Given the description of an element on the screen output the (x, y) to click on. 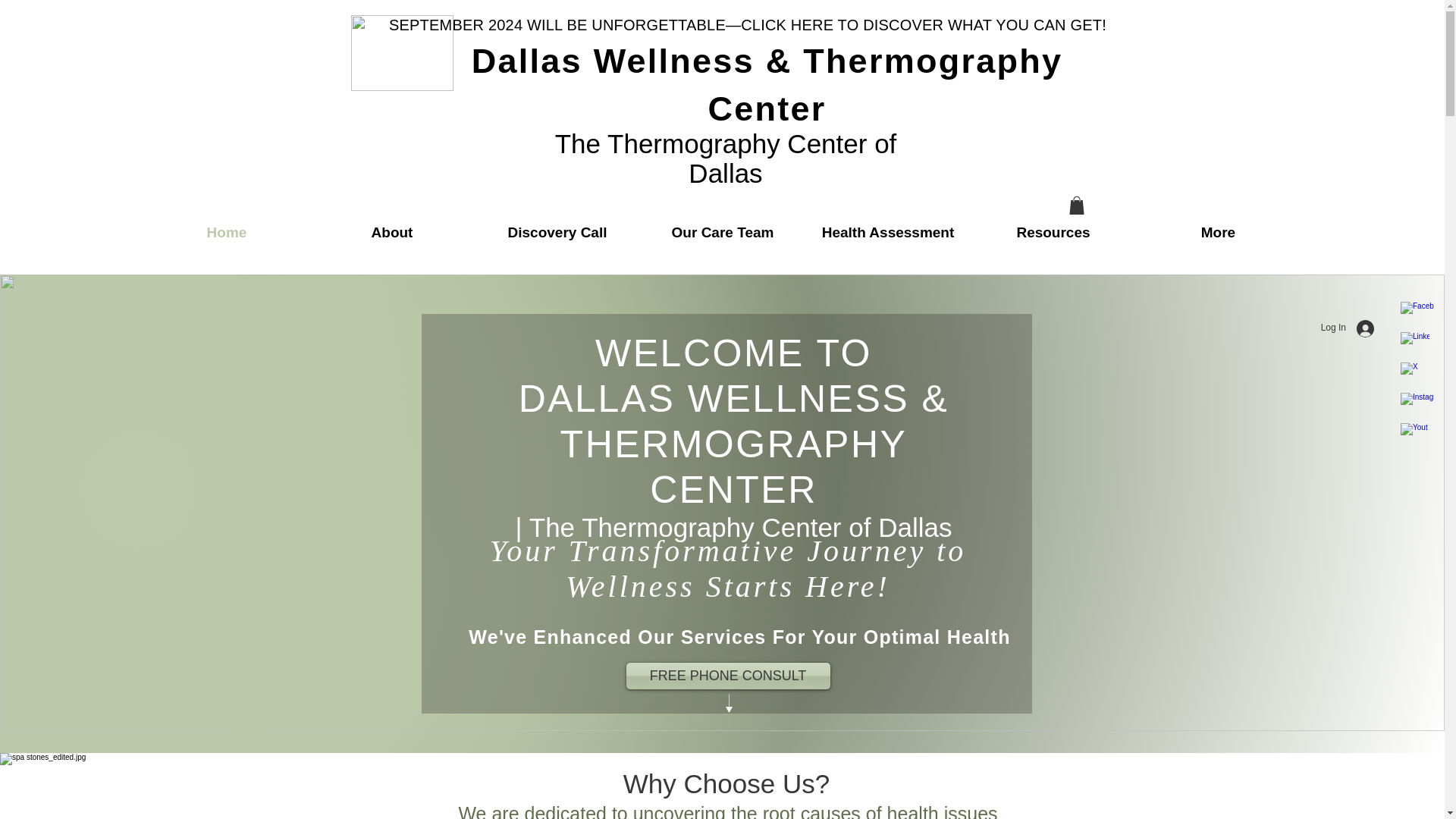
Discovery Call (557, 232)
Home (226, 232)
FREE PHONE CONSULT (727, 675)
Our Care Team (722, 232)
Resources (1053, 232)
Log In (1348, 328)
Health Assessment (888, 232)
About (391, 232)
